Given the description of an element on the screen output the (x, y) to click on. 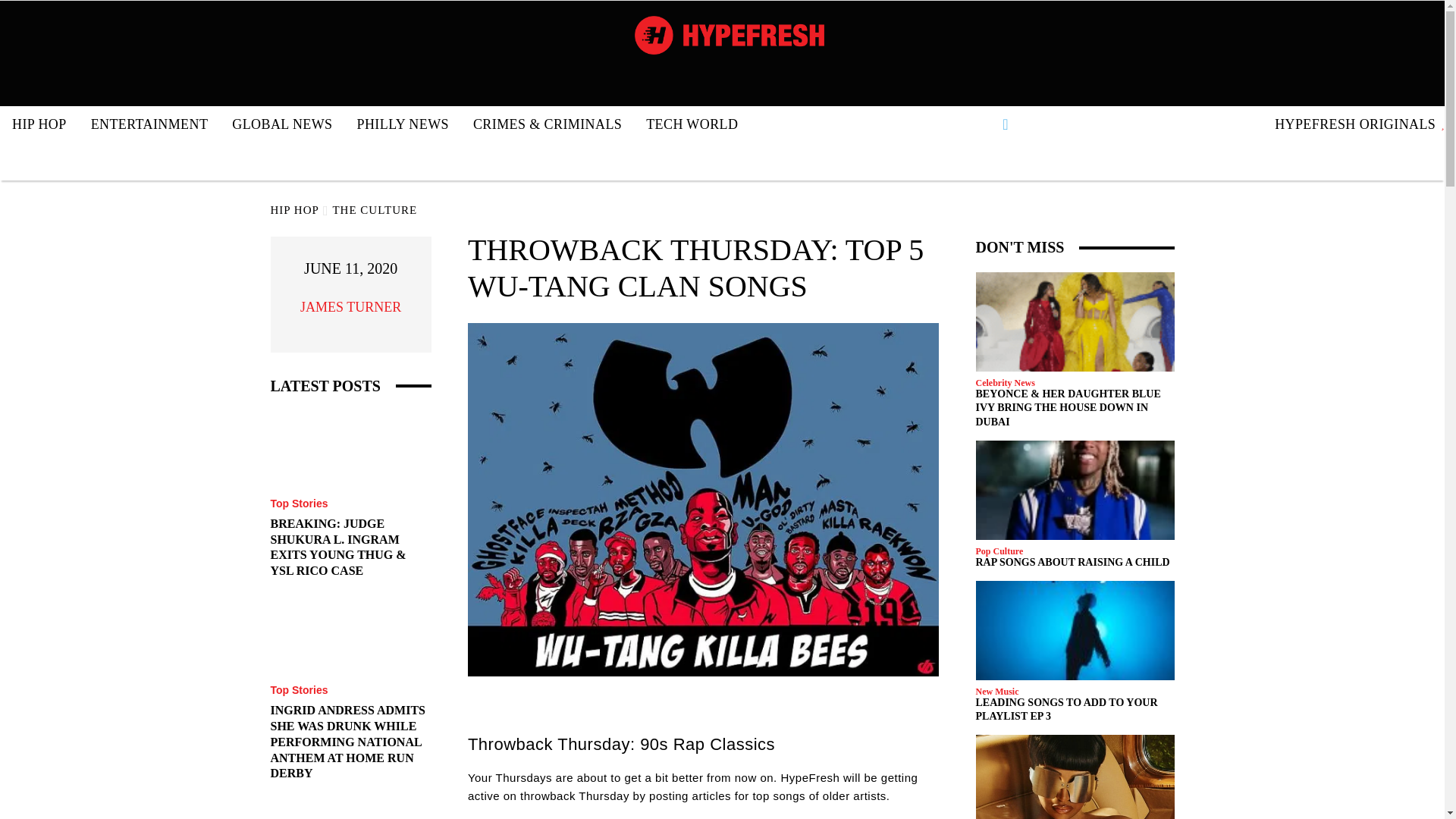
HIP HOP (39, 124)
